Given the description of an element on the screen output the (x, y) to click on. 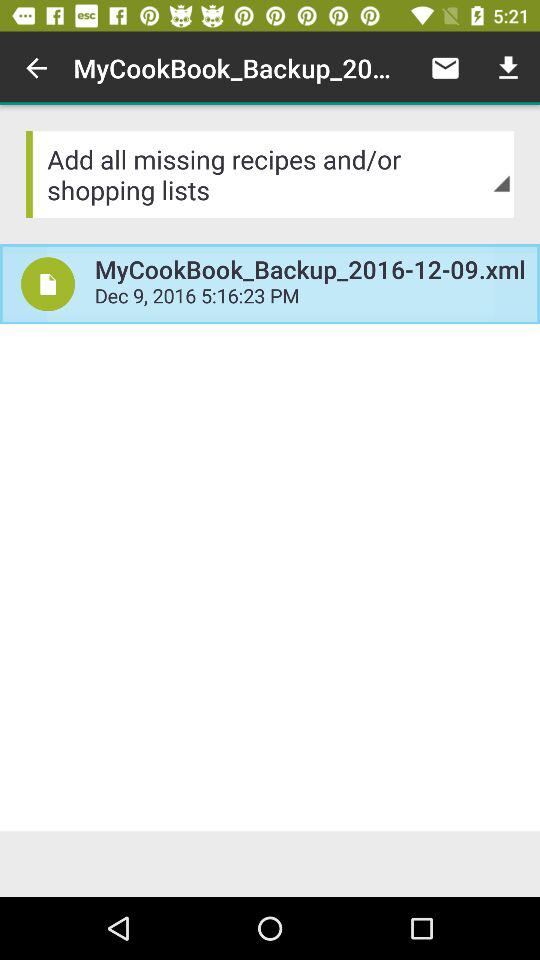
choose icon to the left of the mycookbook_backup_2016 12 09 item (48, 284)
